Given the description of an element on the screen output the (x, y) to click on. 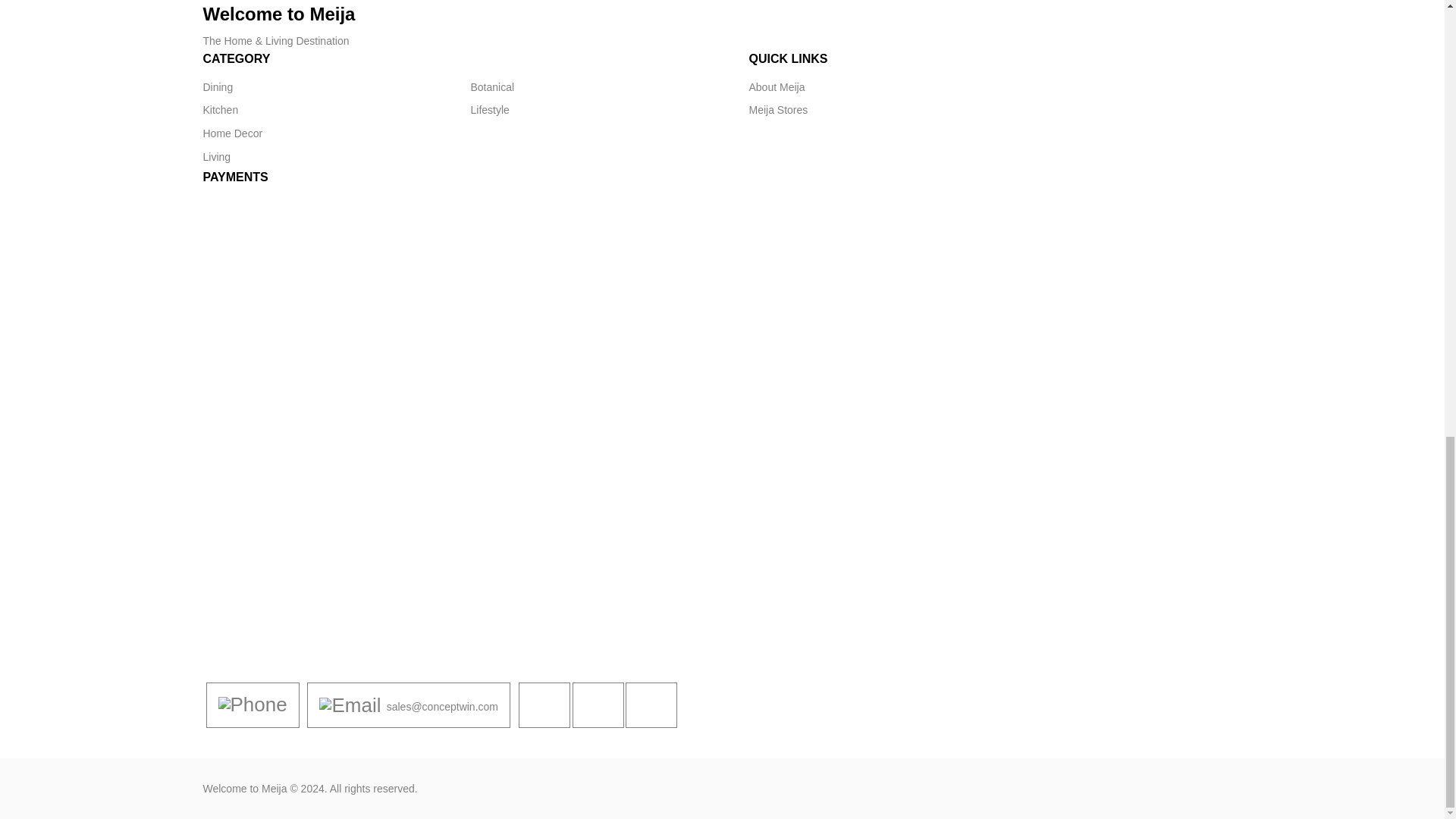
About Meija (777, 87)
Living (217, 156)
Lifestyle (489, 110)
Kitchen (220, 110)
Home Decor (233, 133)
Meija Stores (778, 110)
Botanical (491, 87)
Dining (217, 87)
